Given the description of an element on the screen output the (x, y) to click on. 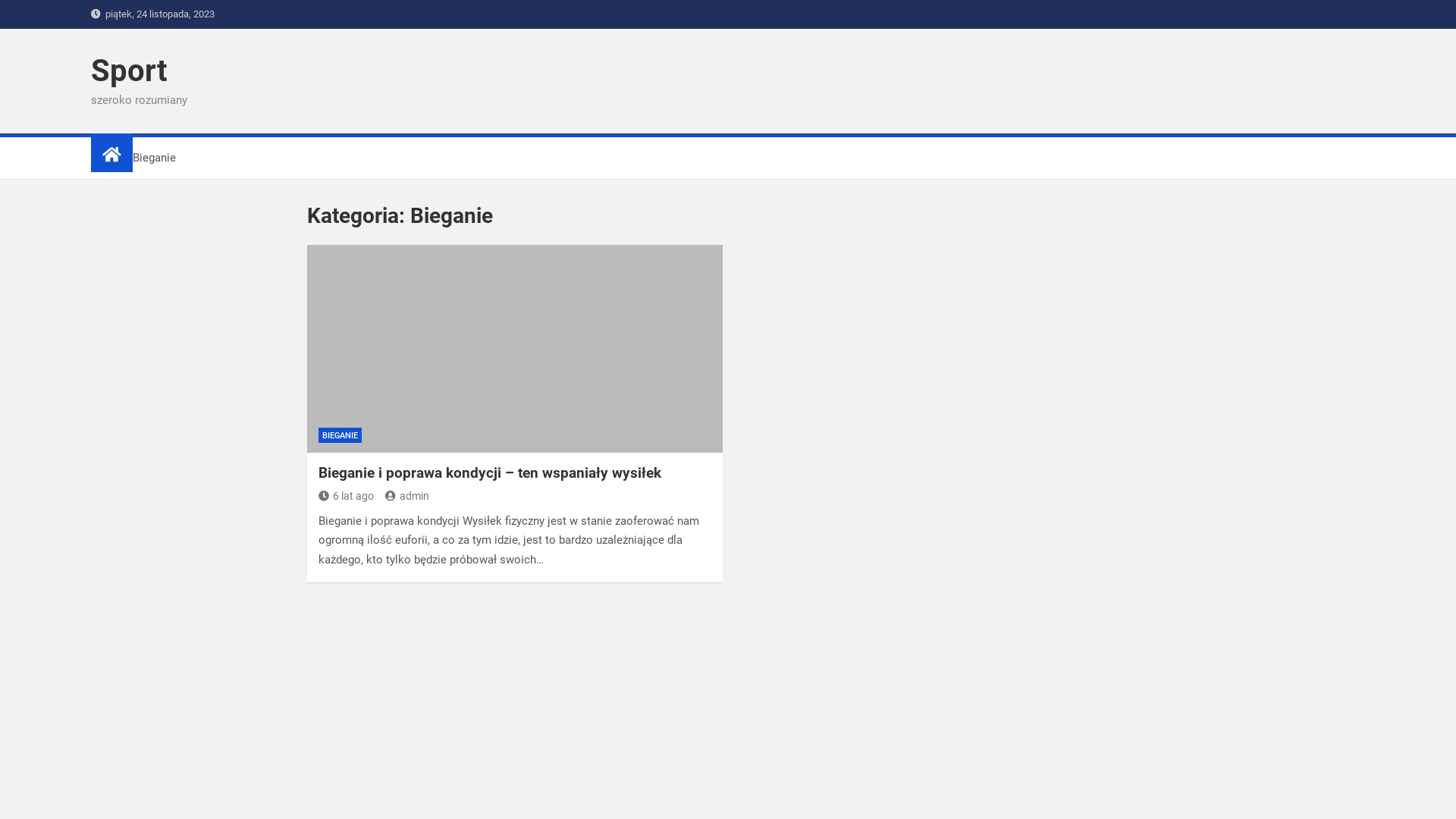
6 lat ago Element type: text (345, 495)
BIEGANIE Element type: text (339, 435)
admin Element type: text (407, 495)
Home Element type: text (106, 157)
Sport Element type: text (129, 70)
